Given the description of an element on the screen output the (x, y) to click on. 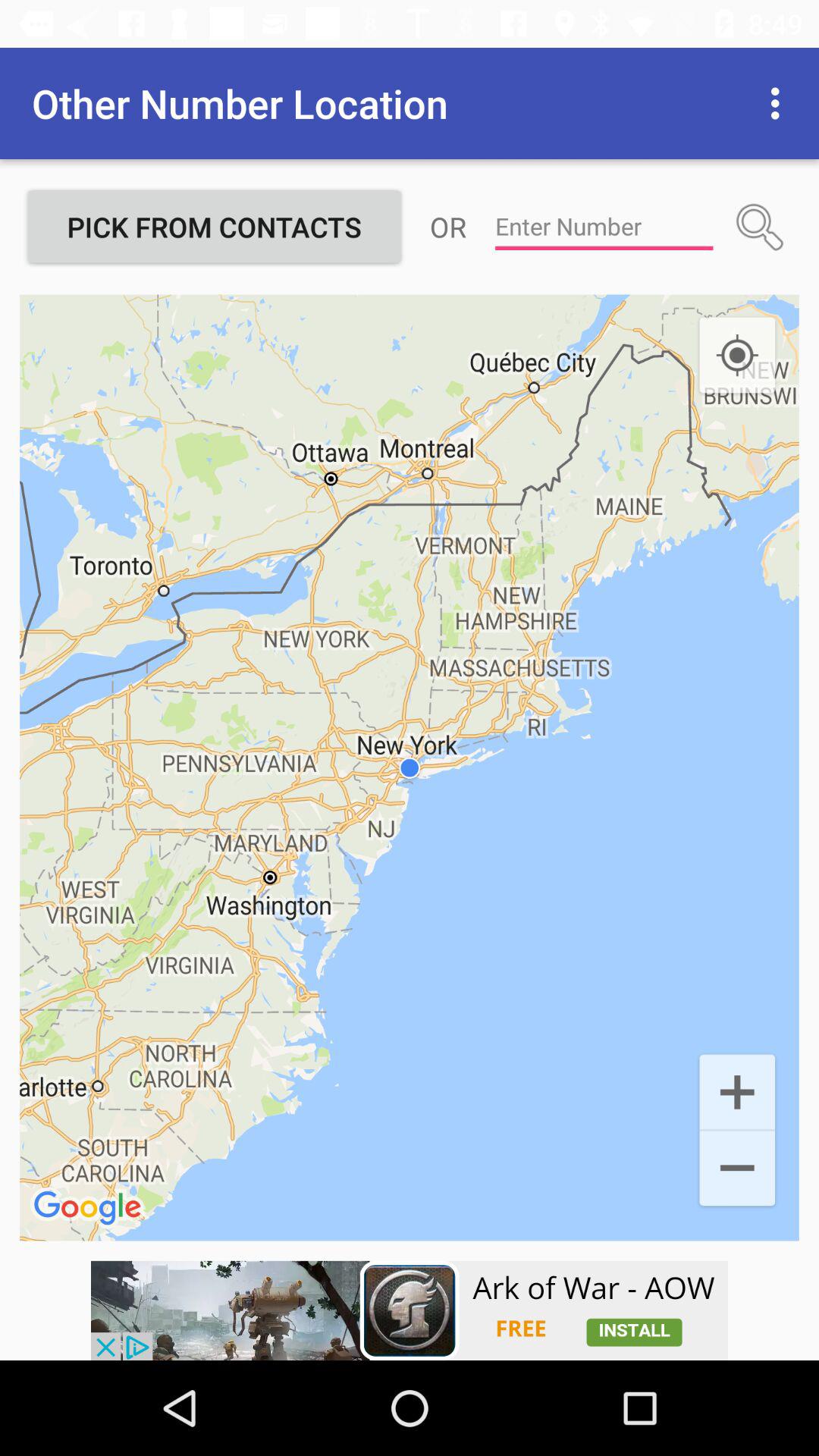
advertisement (409, 1310)
